Given the description of an element on the screen output the (x, y) to click on. 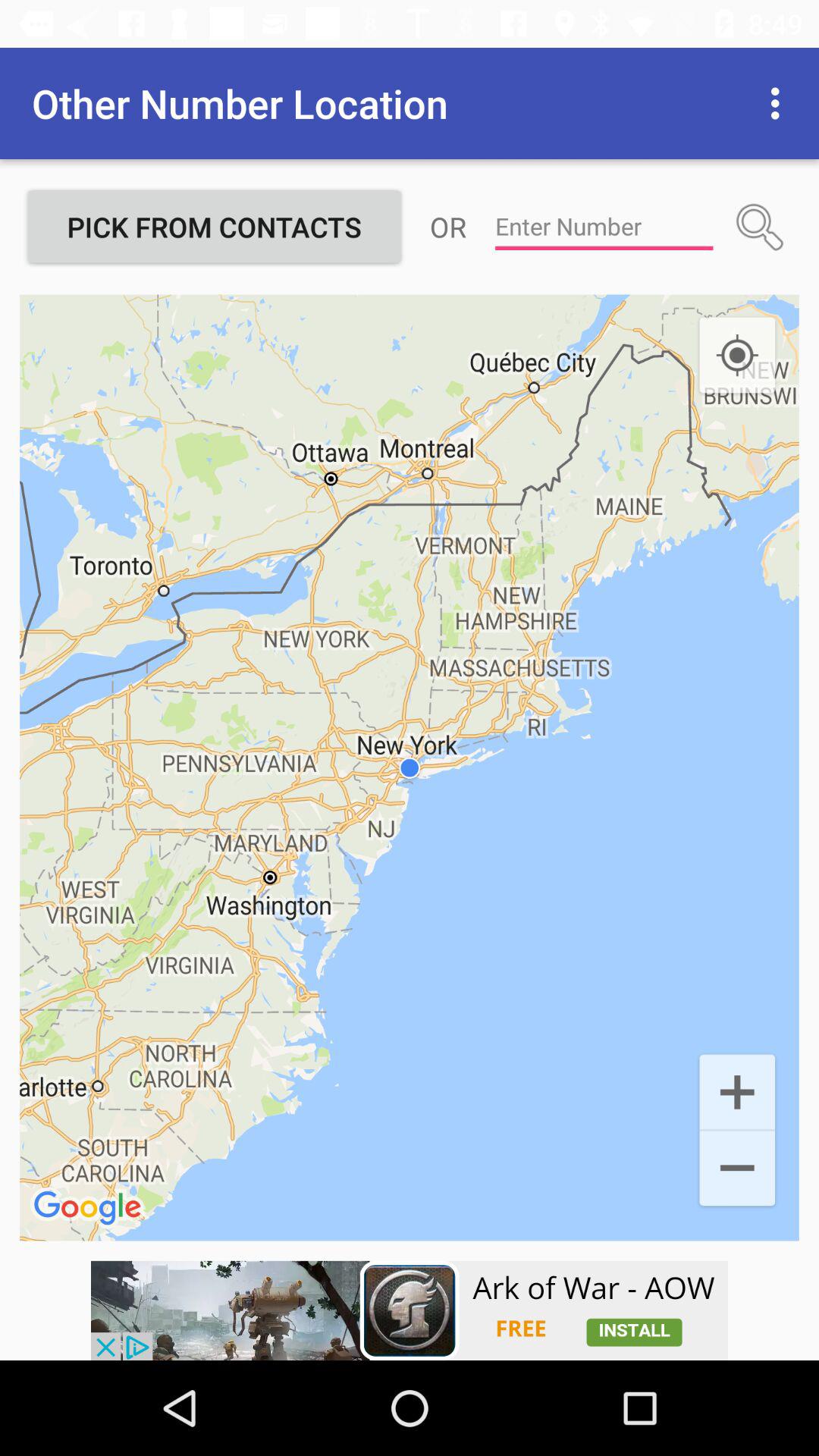
advertisement (409, 1310)
